Given the description of an element on the screen output the (x, y) to click on. 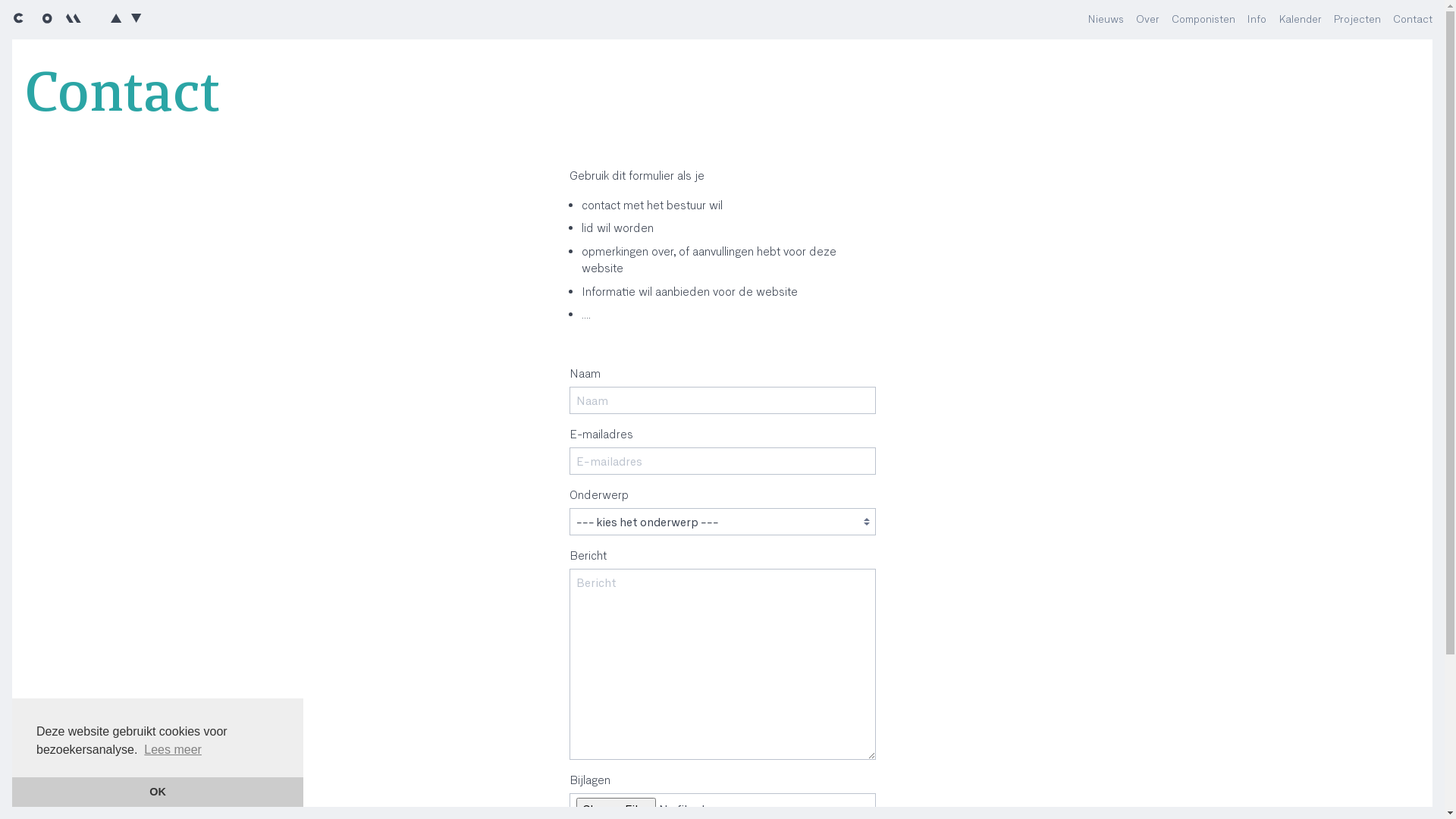
Over Element type: text (1147, 19)
Projecten Element type: text (1356, 19)
Contact Element type: text (1412, 19)
Kalender Element type: text (1299, 19)
Nieuws Element type: text (1105, 19)
Componisten Element type: text (1203, 19)
OK Element type: text (157, 791)
Info Element type: text (1256, 19)
Lees meer Element type: text (172, 749)
